Given the description of an element on the screen output the (x, y) to click on. 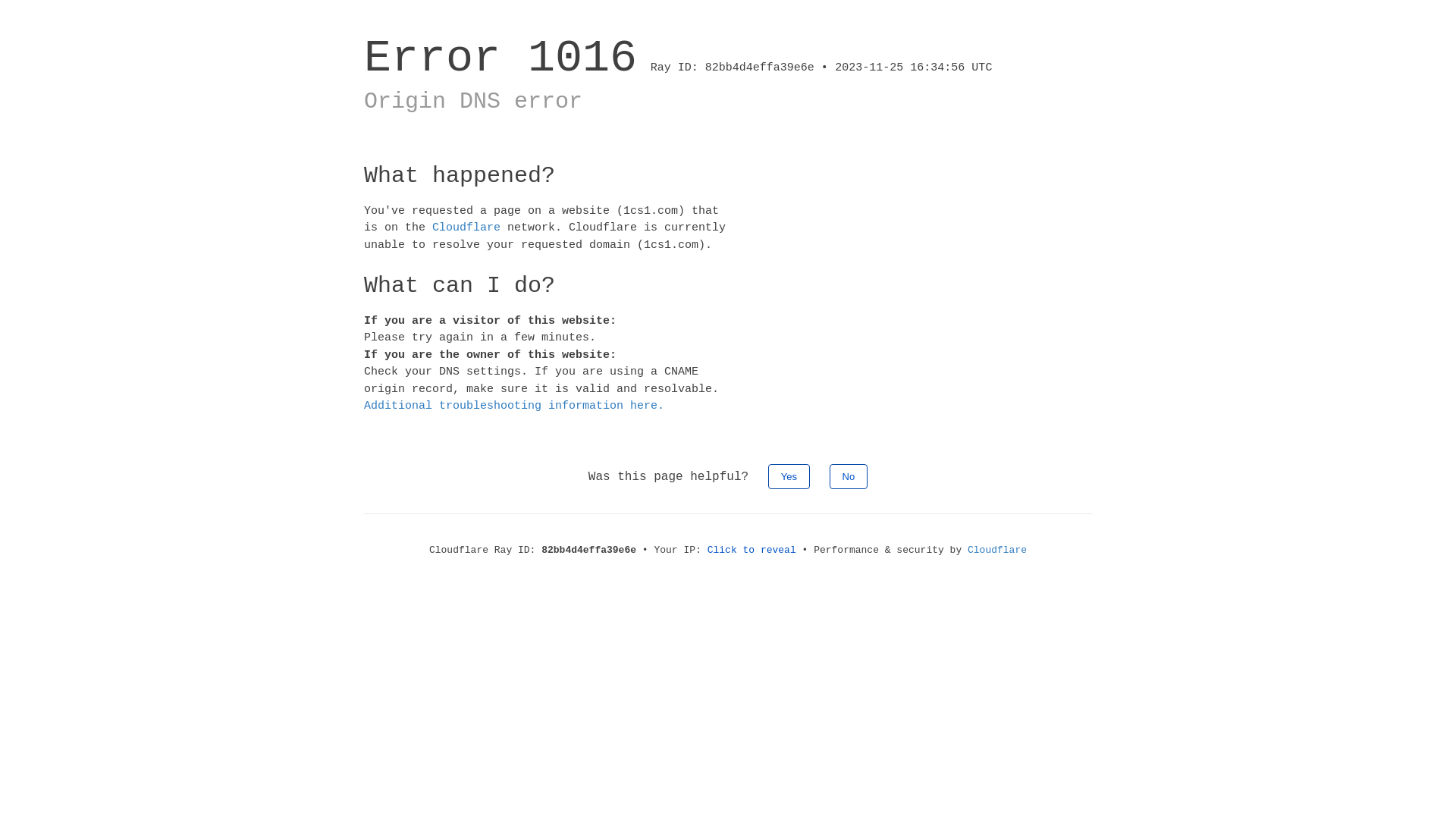
Click to reveal Element type: text (751, 549)
Cloudflare Element type: text (466, 227)
Additional troubleshooting information here. Element type: text (514, 405)
No Element type: text (848, 476)
Cloudflare Element type: text (996, 549)
Yes Element type: text (788, 476)
